Given the description of an element on the screen output the (x, y) to click on. 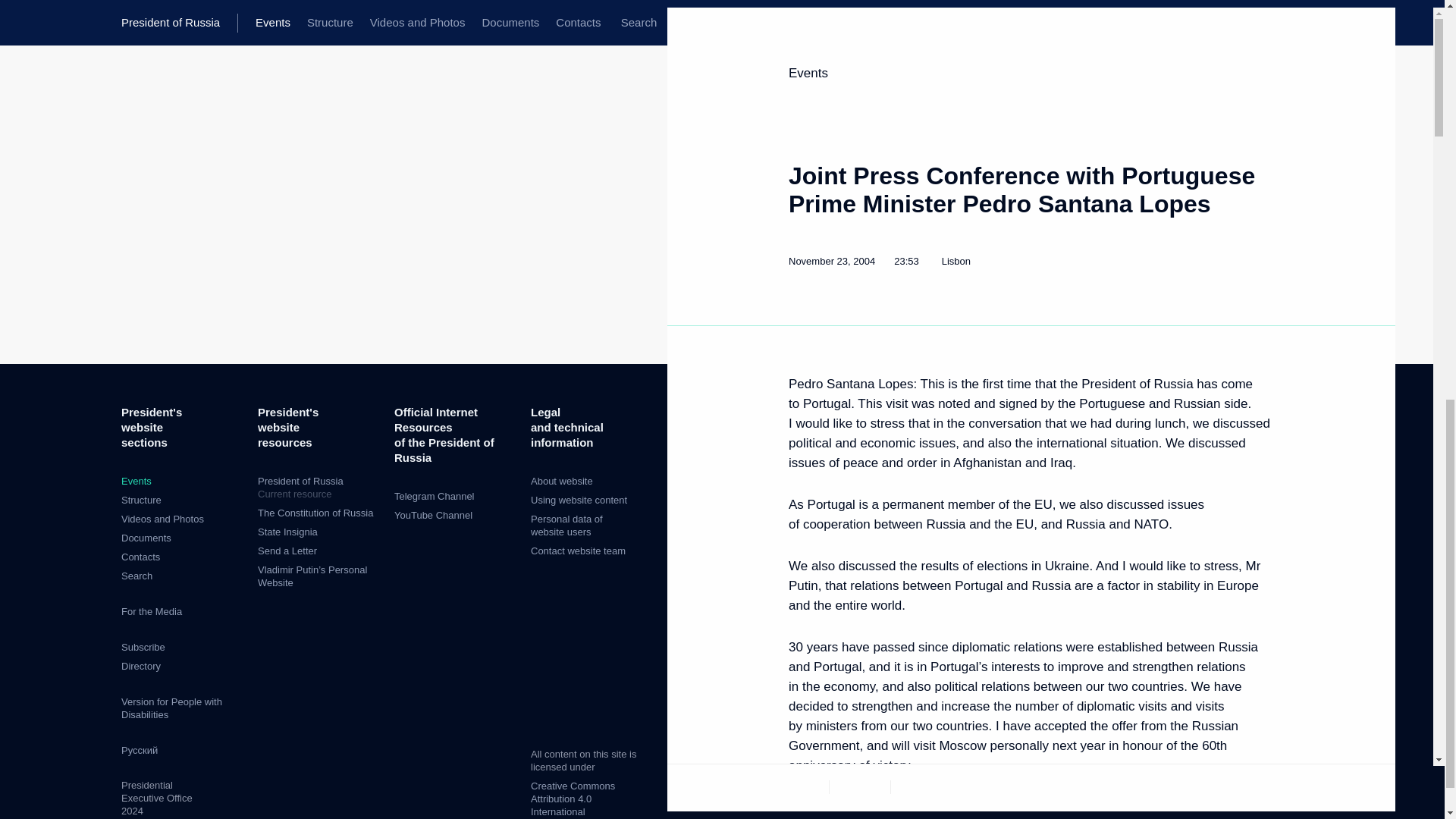
State Insignia (287, 531)
Search (136, 575)
Documents (145, 537)
Personal data of website users (566, 525)
Using website content (317, 487)
For the Media (579, 500)
Videos and Photos (151, 611)
Directory (161, 518)
Creative Commons Attribution 4.0 International (140, 665)
Subscribe (572, 798)
Contact website team (142, 646)
The Constitution of Russia (578, 550)
Events (314, 512)
Structure (135, 480)
